Given the description of an element on the screen output the (x, y) to click on. 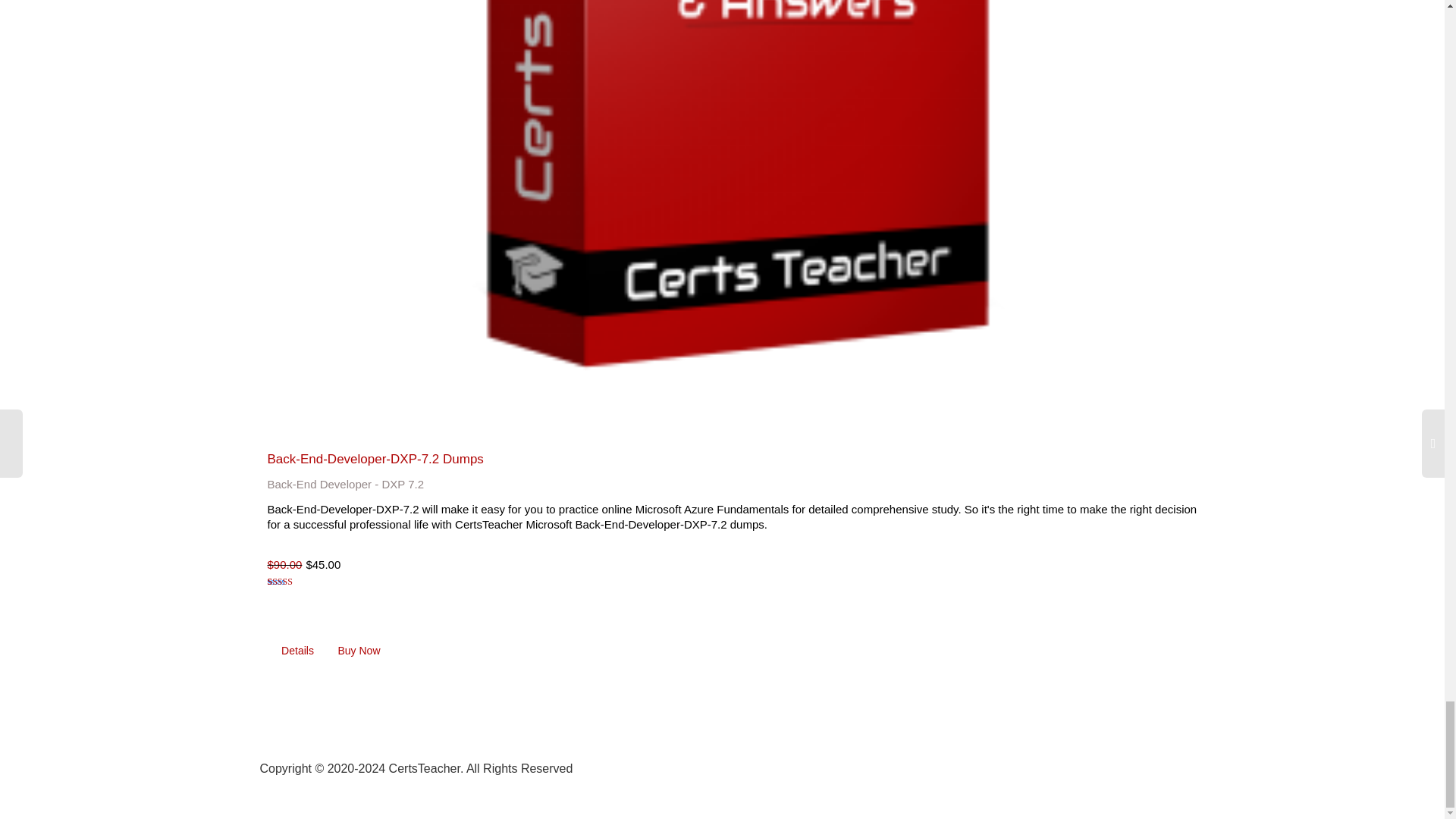
Details (296, 651)
Back-End-Developer-DXP-7.2 Dumps (374, 459)
Home (936, 765)
Buy Now (358, 651)
